Given the description of an element on the screen output the (x, y) to click on. 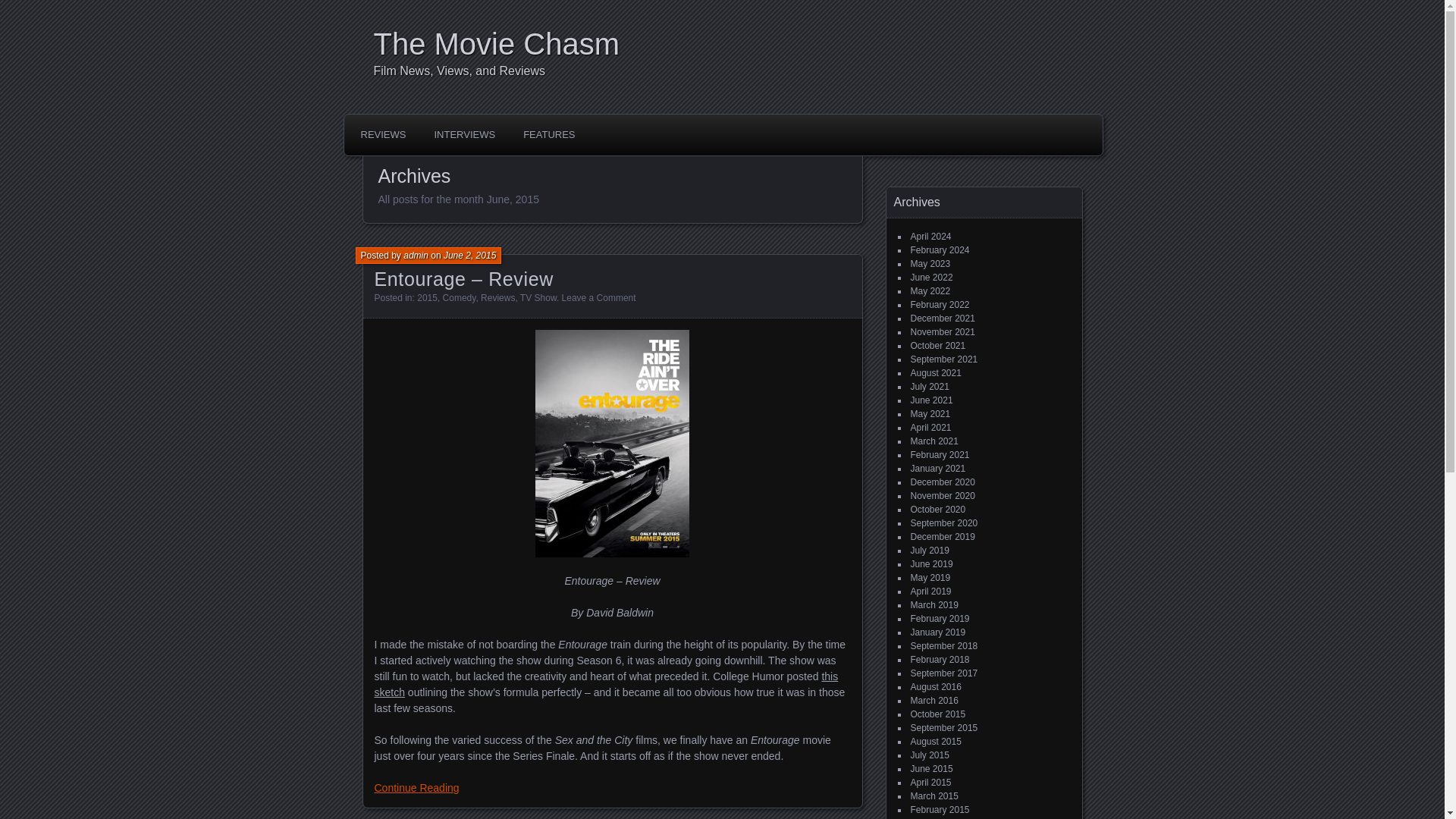
December 2021 (942, 317)
April 2021 (930, 427)
July 2019 (929, 550)
March 2021 (934, 440)
December 2020 (942, 481)
April 2024 (930, 235)
May 2023 (930, 263)
October 2021 (937, 345)
September 2021 (943, 358)
this sketch (606, 684)
January 2021 (937, 468)
June 2, 2015 (470, 255)
admin (415, 255)
May 2022 (930, 290)
February 2022 (939, 304)
